Given the description of an element on the screen output the (x, y) to click on. 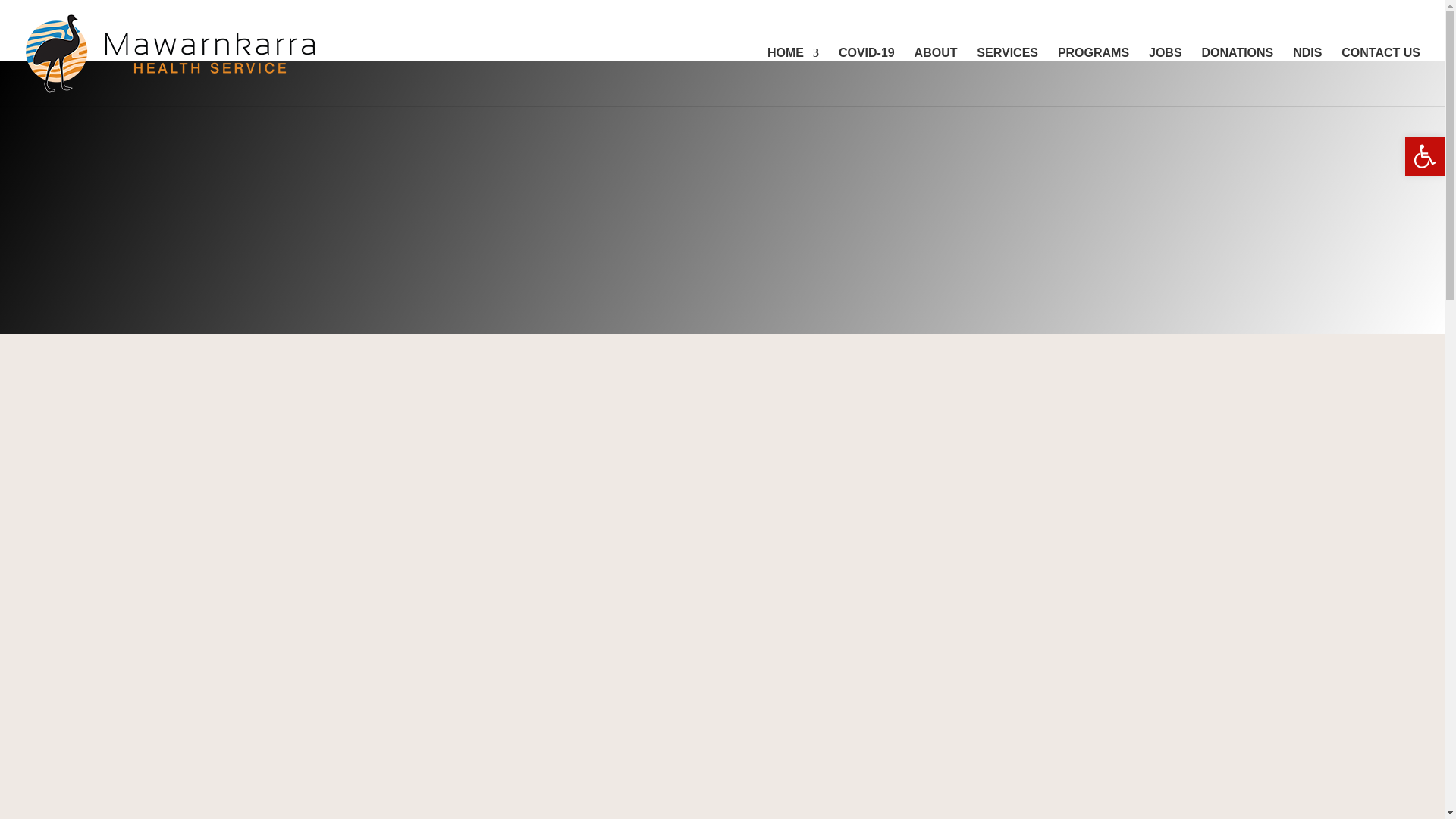
DONATIONS (1236, 76)
SERVICES (1007, 76)
PROGRAMS (1093, 76)
COVID-19 (866, 76)
Accessibility Tools (1424, 156)
CONTACT US (1380, 76)
